Given the description of an element on the screen output the (x, y) to click on. 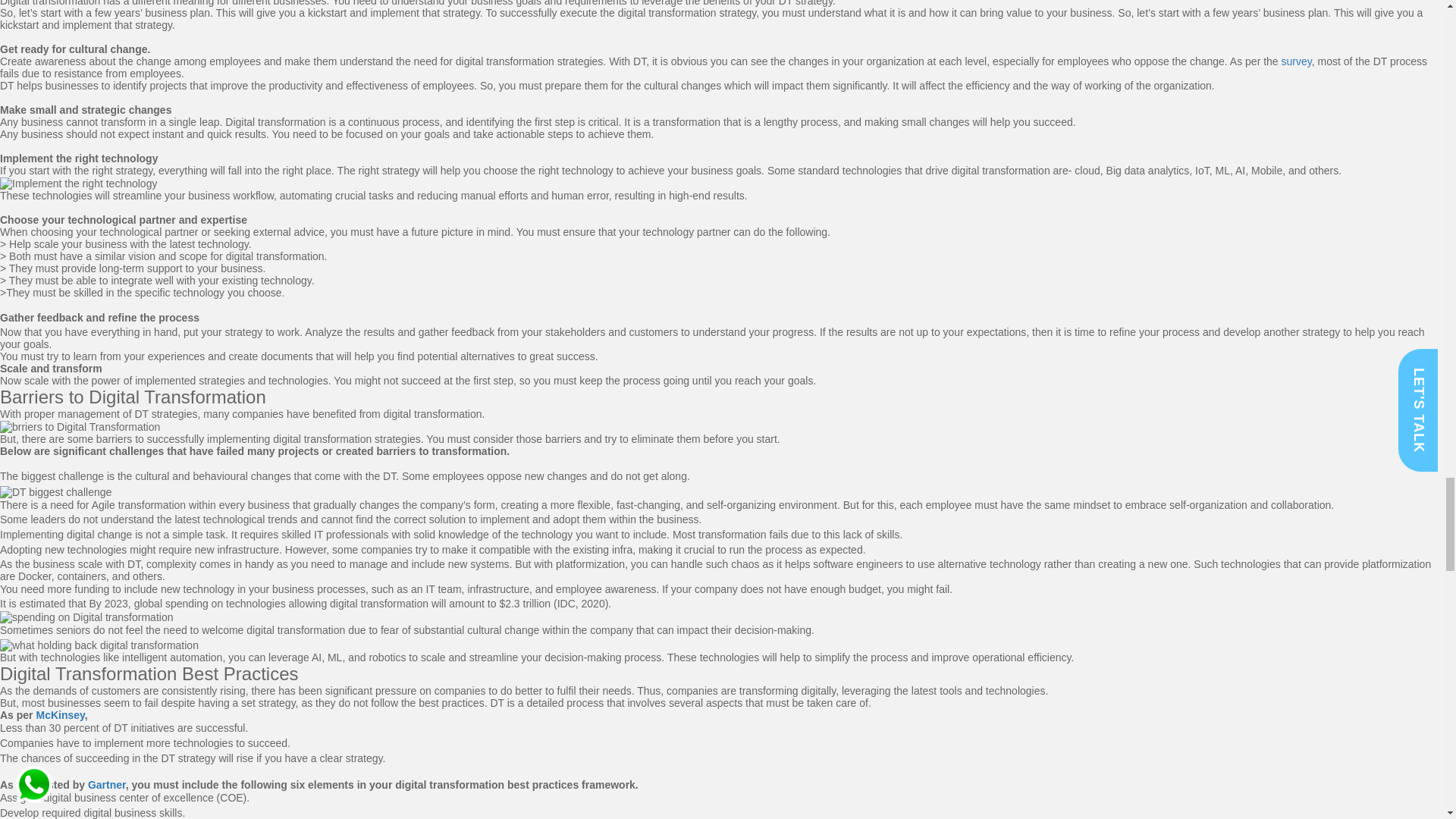
Digital Transformation Best Practices (149, 673)
Barriers to Digital Transformation (133, 396)
